Given the description of an element on the screen output the (x, y) to click on. 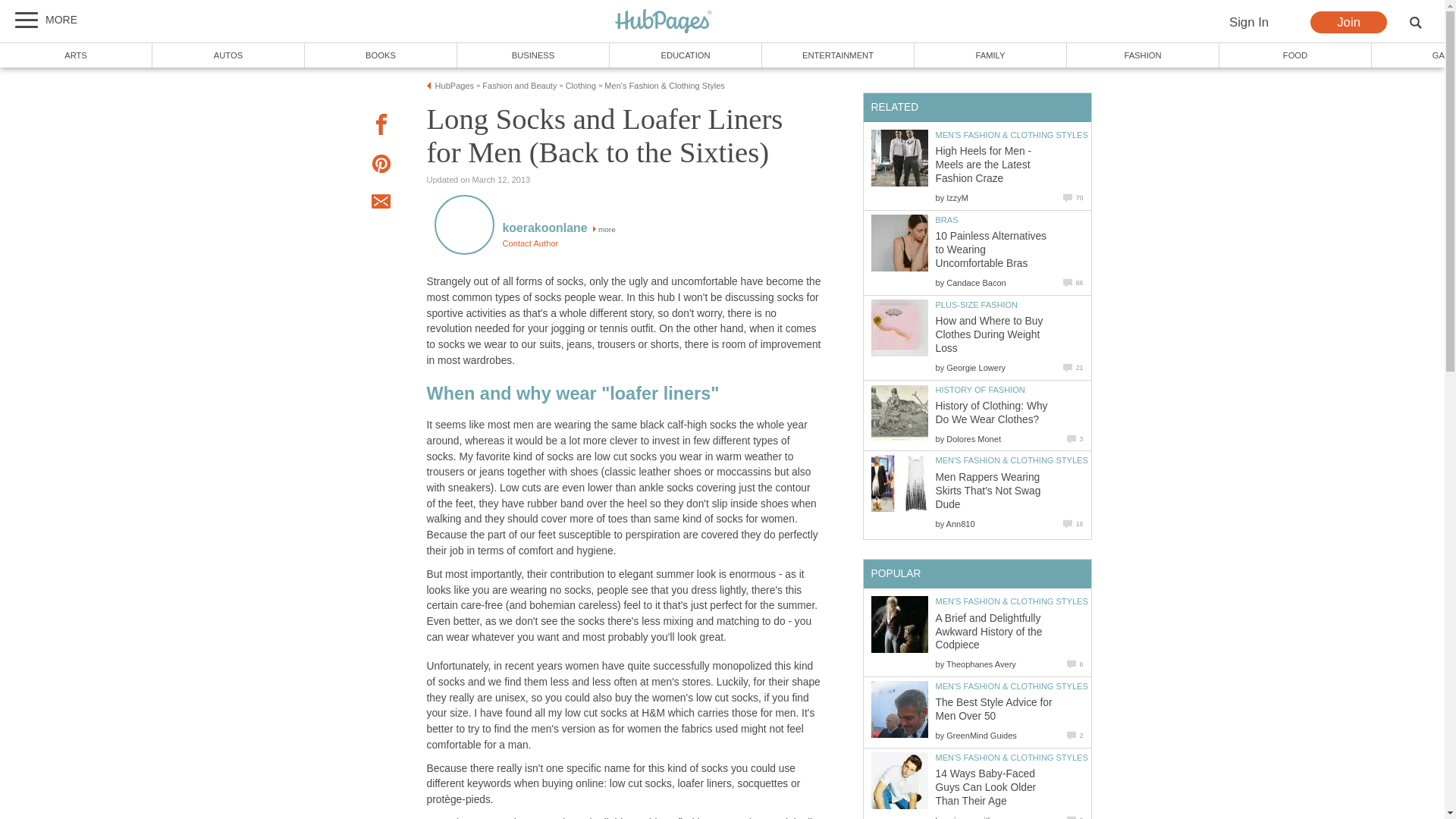
Join (1348, 22)
High Heels for Men - Meels are the Latest Fashion Craze (898, 157)
BOOKS (380, 55)
10 Painless Alternatives to Wearing Uncomfortable Bras (991, 249)
Clothing (580, 85)
14 Ways Baby-Faced Guys Can Look Older Than Their Age (898, 780)
EDUCATION (685, 55)
Sign In (1248, 22)
A Brief and Delightfully Awkward History of the Codpiece (898, 624)
Fashion and Beauty (518, 85)
